Given the description of an element on the screen output the (x, y) to click on. 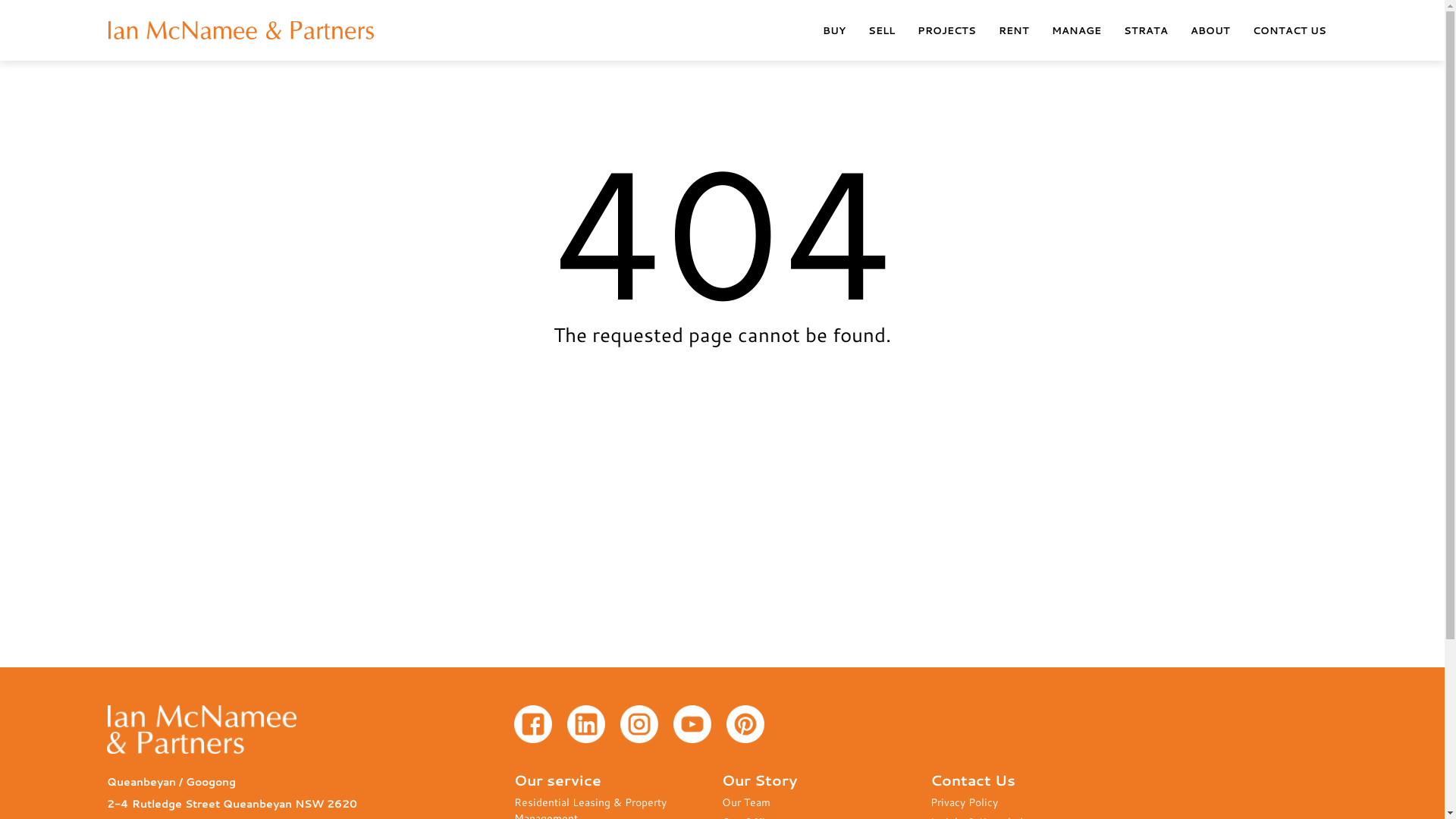
Our service Element type: text (618, 780)
ABOUT Element type: text (1209, 30)
Contact Us Element type: text (1034, 780)
MANAGE Element type: text (1075, 30)
SELL Element type: text (881, 30)
Our Team Element type: text (825, 802)
PROJECTS Element type: text (946, 30)
RENT Element type: text (1013, 30)
Our Story Element type: text (825, 780)
STRATA Element type: text (1145, 30)
Privacy Policy Element type: text (1034, 802)
BUY Element type: text (833, 30)
CONTACT US Element type: text (1289, 30)
